Given the description of an element on the screen output the (x, y) to click on. 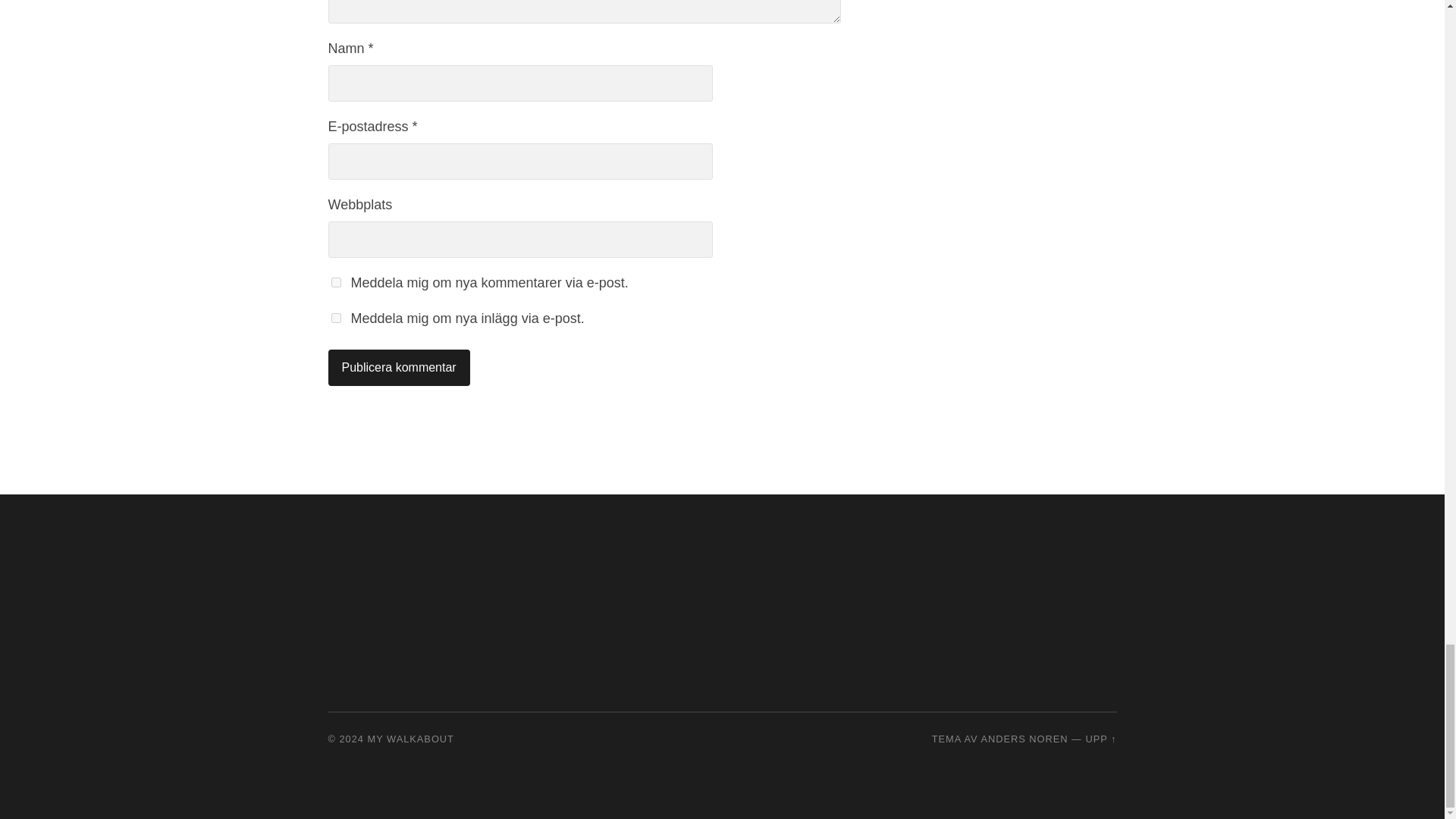
subscribe (335, 317)
Publicera kommentar (397, 367)
Till toppen (1100, 738)
subscribe (335, 282)
